Given the description of an element on the screen output the (x, y) to click on. 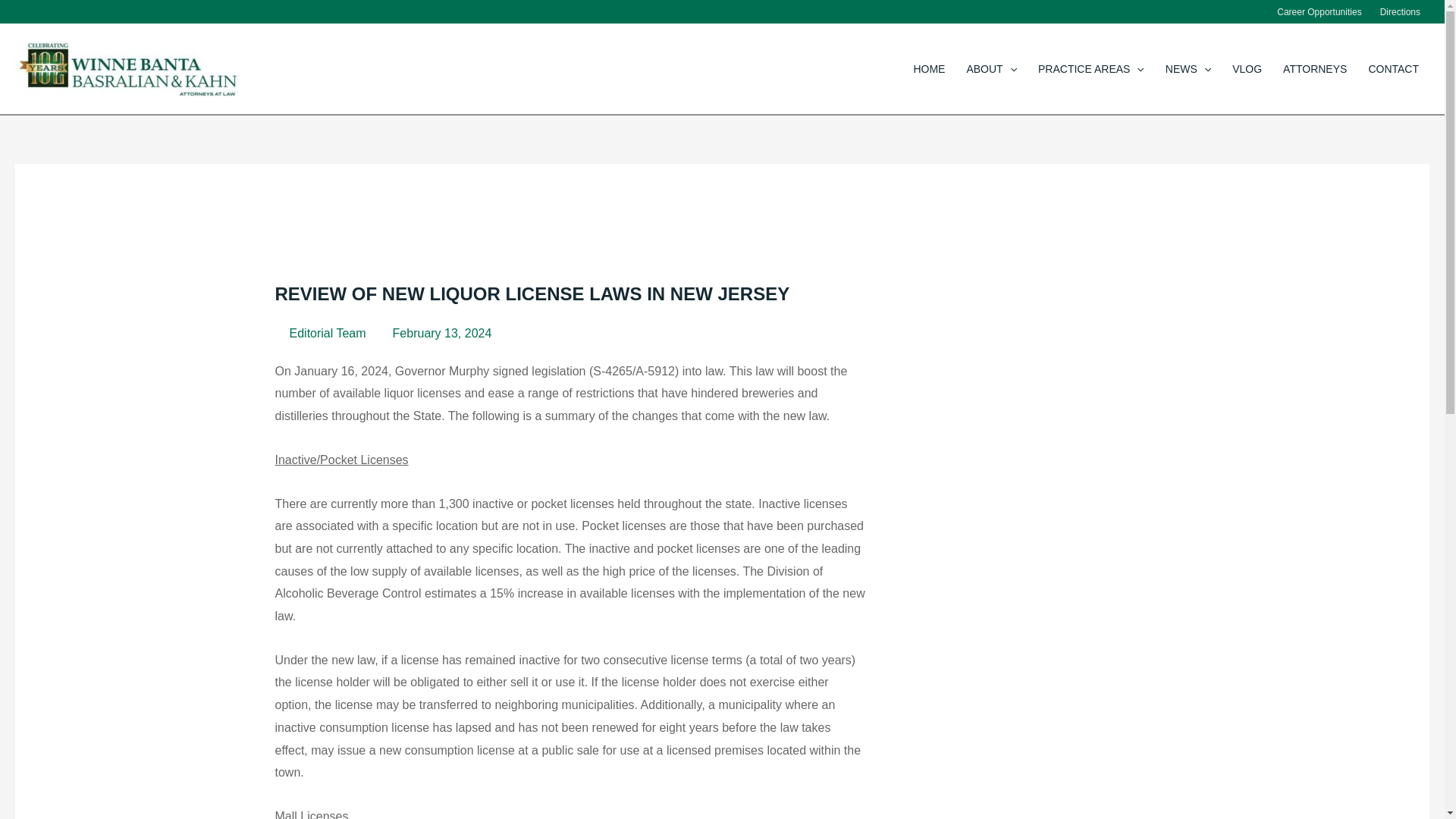
PRACTICE AREAS (1090, 68)
Career Opportunities (1319, 11)
Directions (1400, 11)
ATTORNEYS (1314, 68)
